Given the description of an element on the screen output the (x, y) to click on. 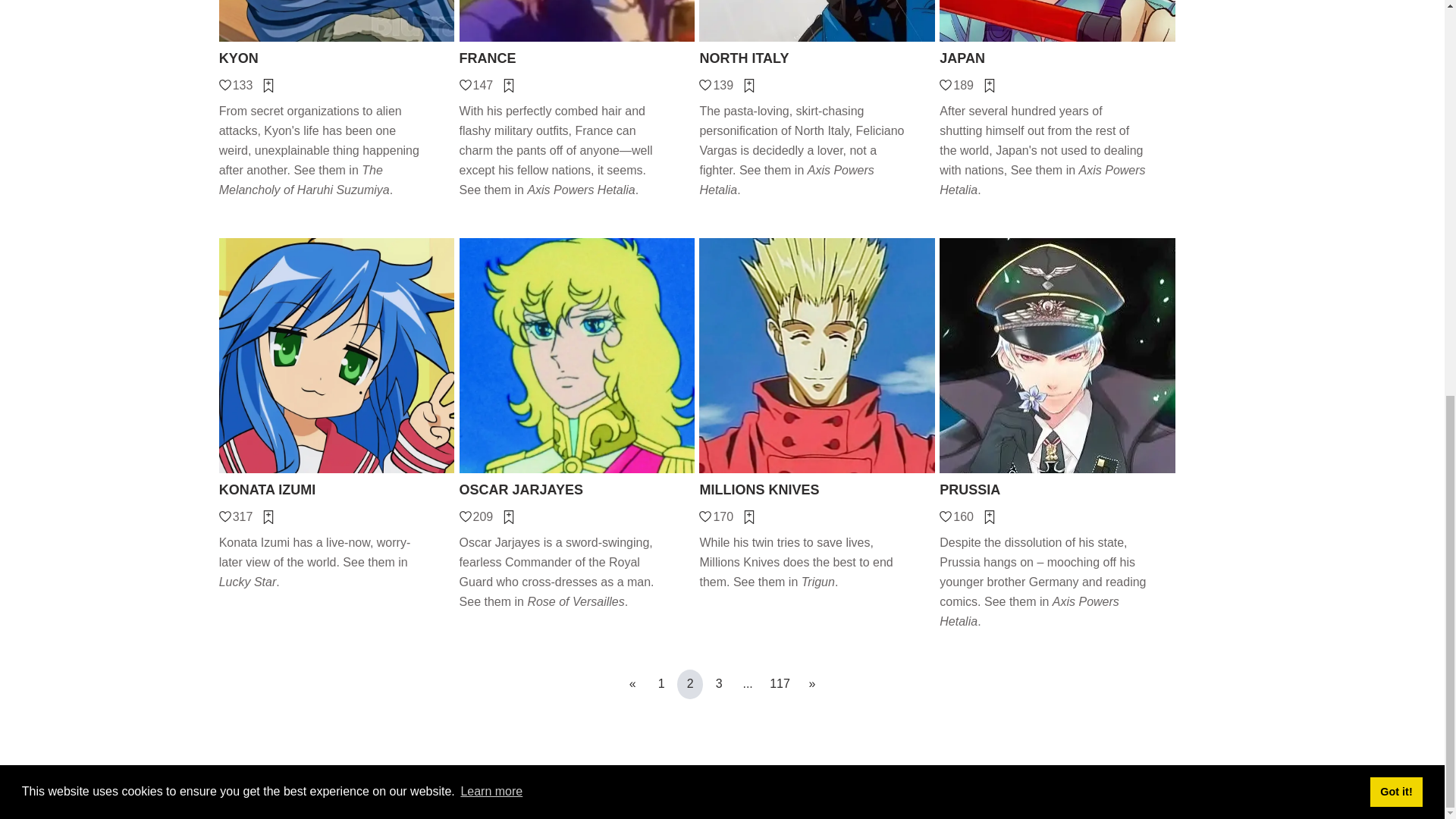
NORTH ITALY (816, 58)
FRANCE (577, 58)
JAPAN (1056, 58)
Learn more (491, 26)
Got it! (1396, 27)
KYON (336, 58)
